Given the description of an element on the screen output the (x, y) to click on. 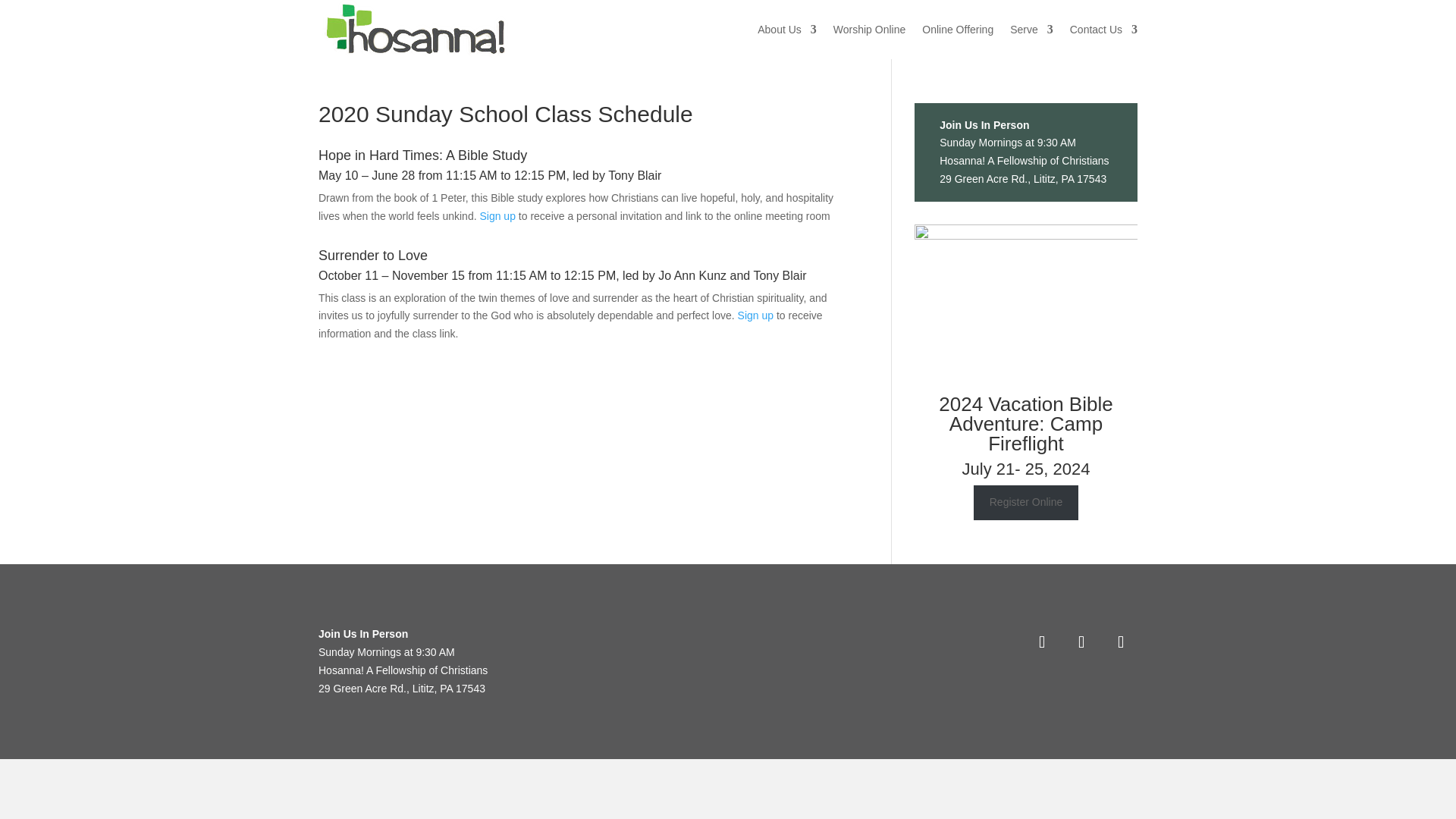
Follow on Youtube (1120, 642)
About Us (786, 29)
Follow on Spotify (1080, 642)
Register Online (1026, 502)
Sign up (755, 315)
Contact Us (1103, 29)
Follow on Facebook (1041, 642)
Worship Online (868, 29)
Sign up (497, 215)
Online Offering (956, 29)
